Given the description of an element on the screen output the (x, y) to click on. 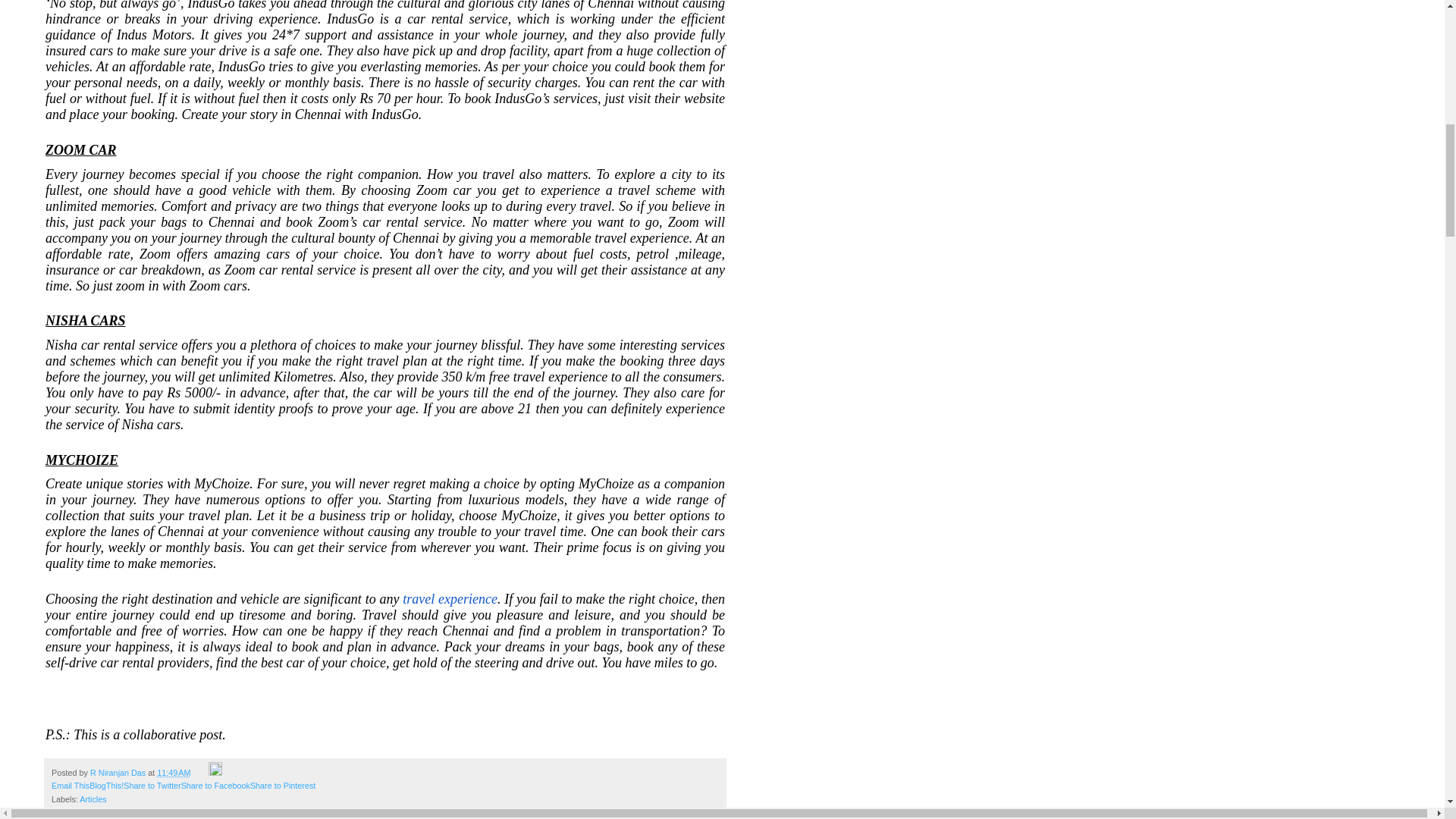
Email This (69, 785)
Share to Facebook (215, 785)
Share to Twitter (151, 785)
Email Post (200, 772)
Share to Pinterest (282, 785)
Edit Post (215, 772)
permanent link (173, 772)
author profile (119, 772)
BlogThis! (105, 785)
